Given the description of an element on the screen output the (x, y) to click on. 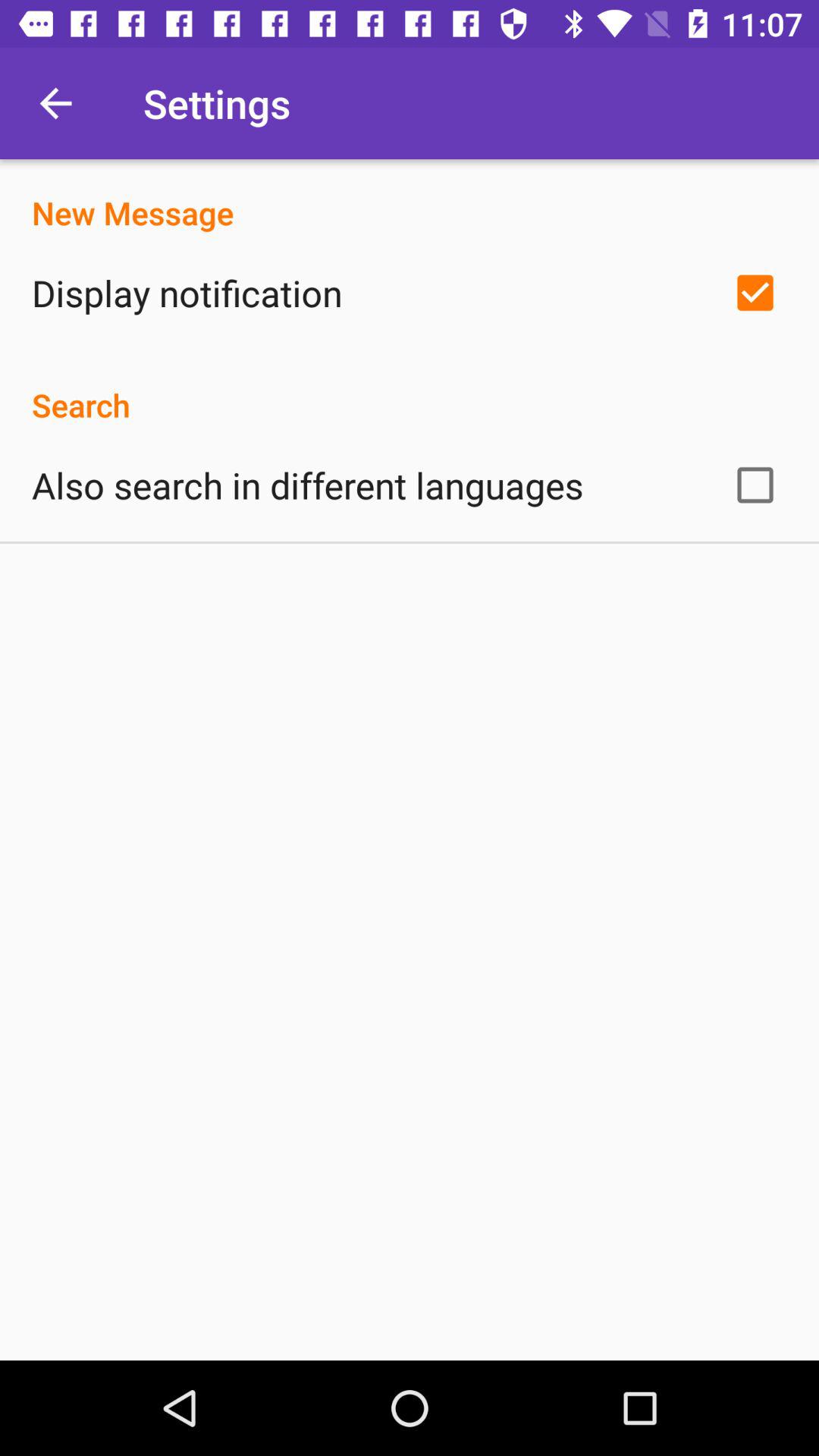
open display notification item (186, 292)
